Given the description of an element on the screen output the (x, y) to click on. 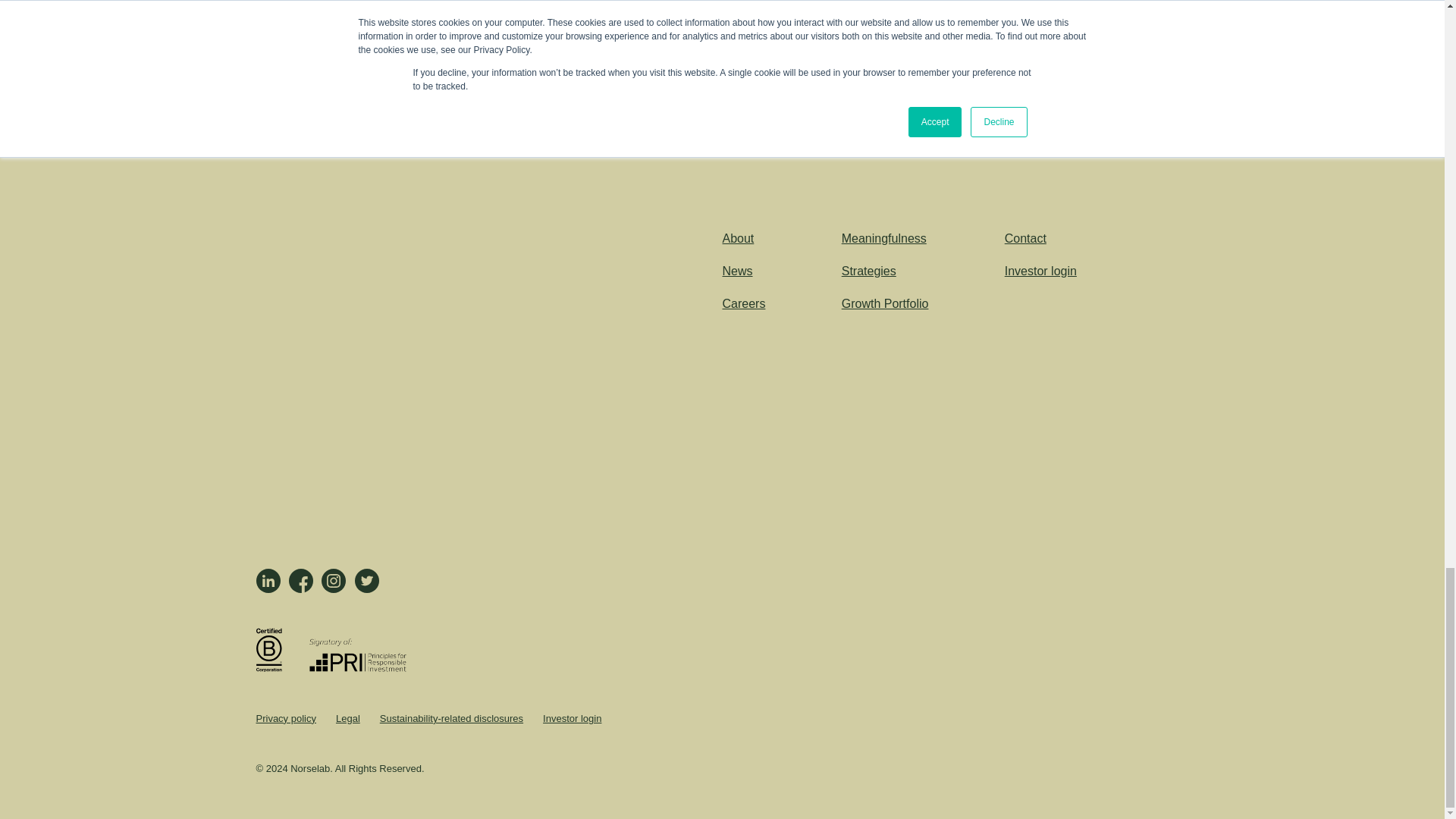
Instagram (333, 580)
News (737, 270)
LinkedIn (268, 580)
Twitter (366, 580)
PRI logo (357, 668)
Facebook (300, 580)
Facebook (300, 580)
About (738, 237)
LinkedIn (268, 580)
Meaningfulness (883, 237)
Instagram (333, 580)
Twitter (366, 580)
Form 0 (430, 378)
Careers (743, 303)
